Given the description of an element on the screen output the (x, y) to click on. 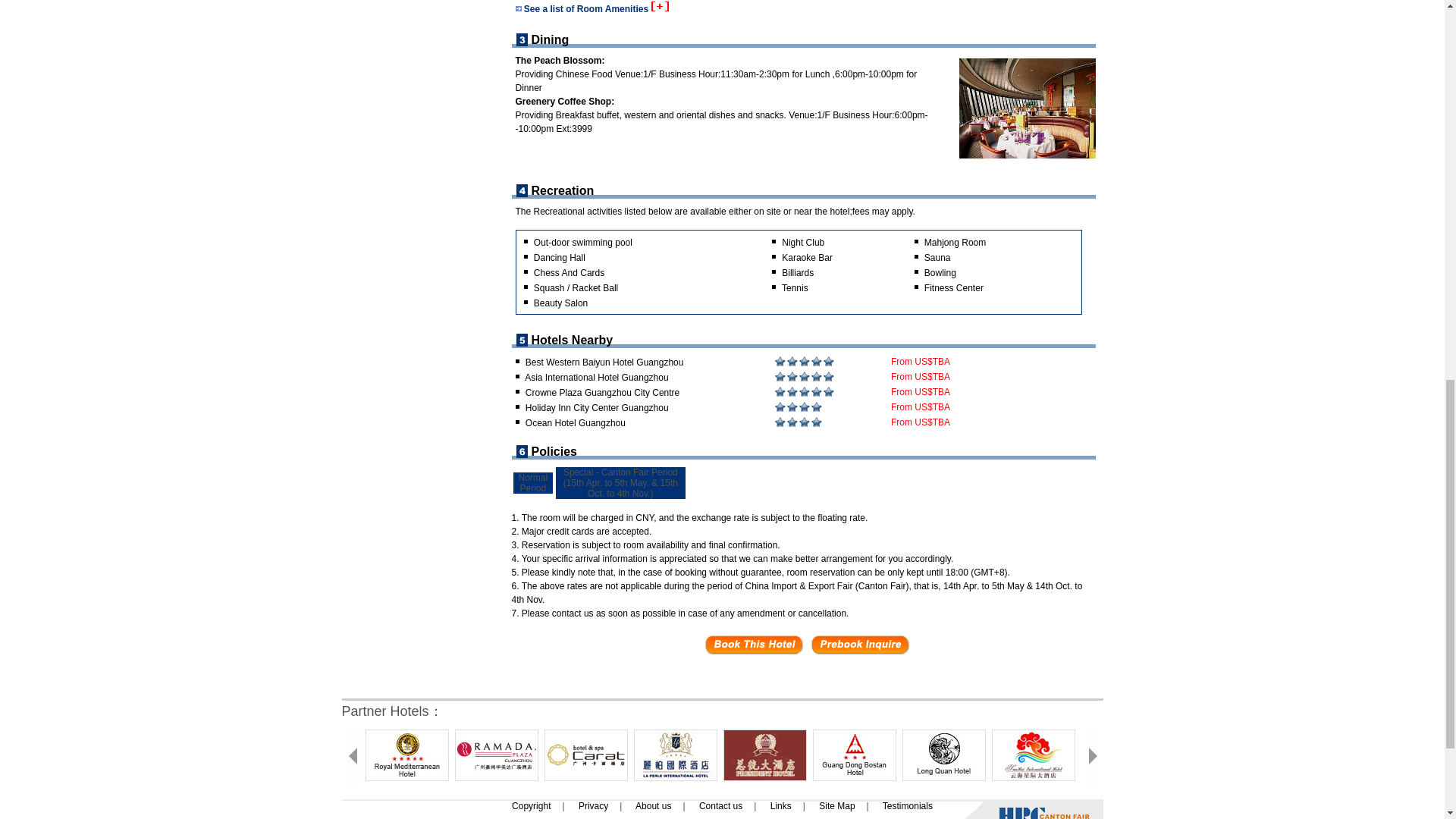
Crowne Plaza Guangzhou City Centre (602, 392)
Holiday Inn City Center Guangzhou (596, 407)
Best Western Baiyun Hotel Guangzhou (604, 362)
View More Photos (1043, 3)
Ocean Hotel Guangzhou (575, 422)
Asia International Hotel Guangzhou (596, 377)
Normal Period (533, 482)
